Given the description of an element on the screen output the (x, y) to click on. 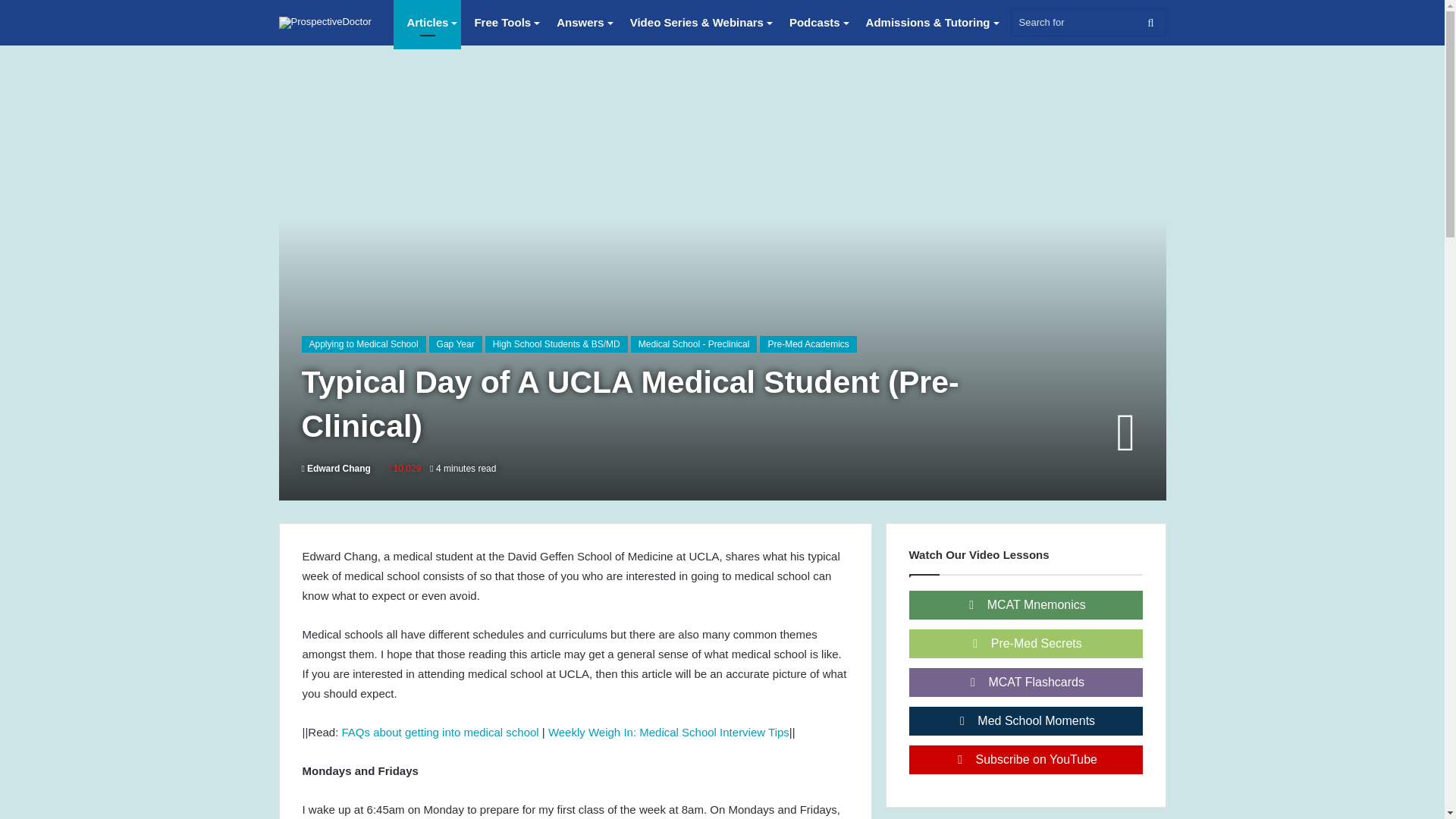
Edward Chang (336, 468)
Search for (1088, 22)
Articles (427, 22)
ProspectiveDoctor (325, 22)
Answers (580, 22)
Free Tools (502, 22)
